Given the description of an element on the screen output the (x, y) to click on. 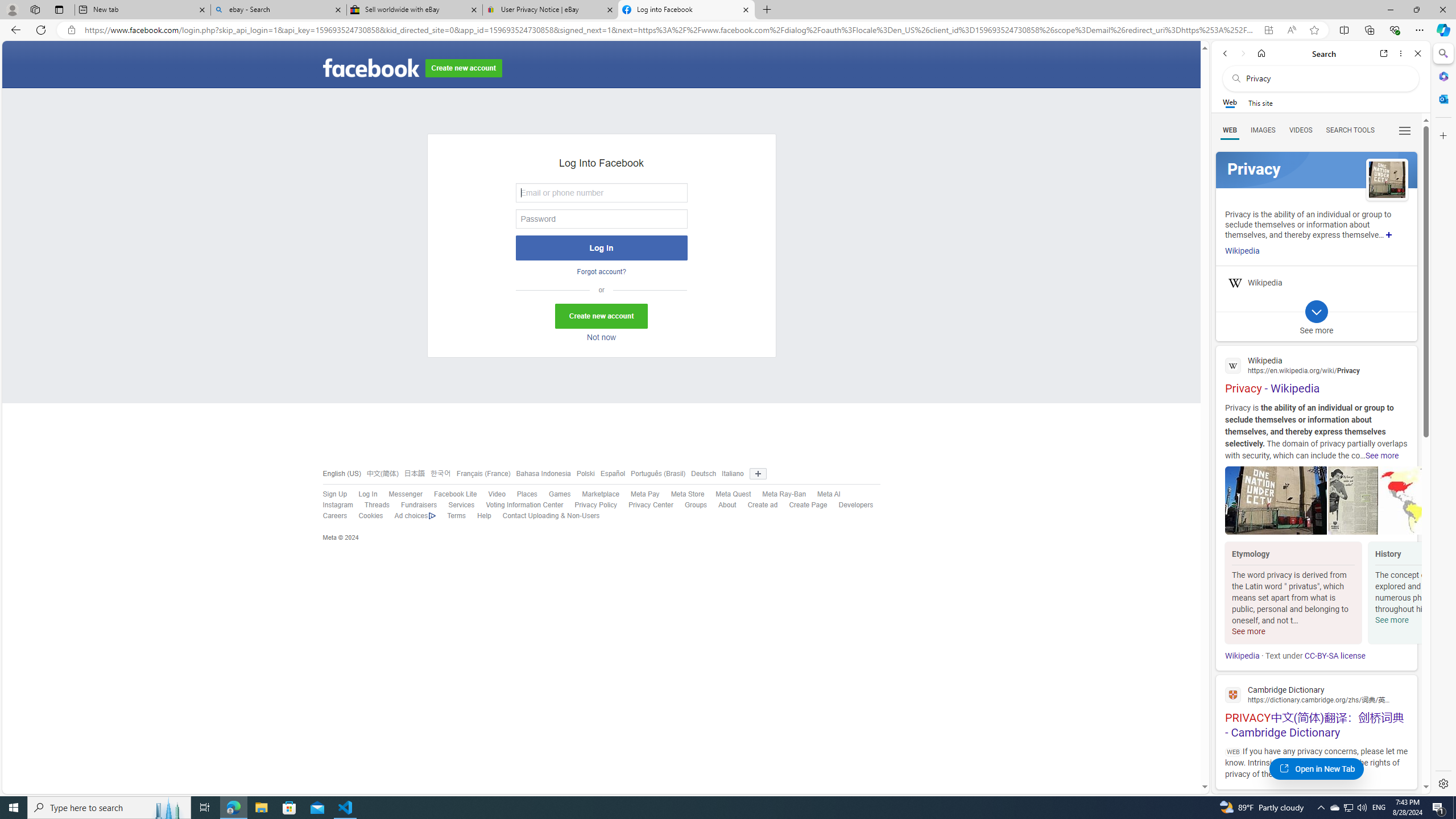
Email or phone number (601, 192)
See more images of Privacy (1386, 180)
IMAGES (1262, 130)
Marketplace (594, 494)
Fundraisers (418, 505)
Services (461, 505)
Voting Information Center (518, 505)
Places (521, 494)
Meta Quest (727, 494)
Log In (601, 247)
